Given the description of an element on the screen output the (x, y) to click on. 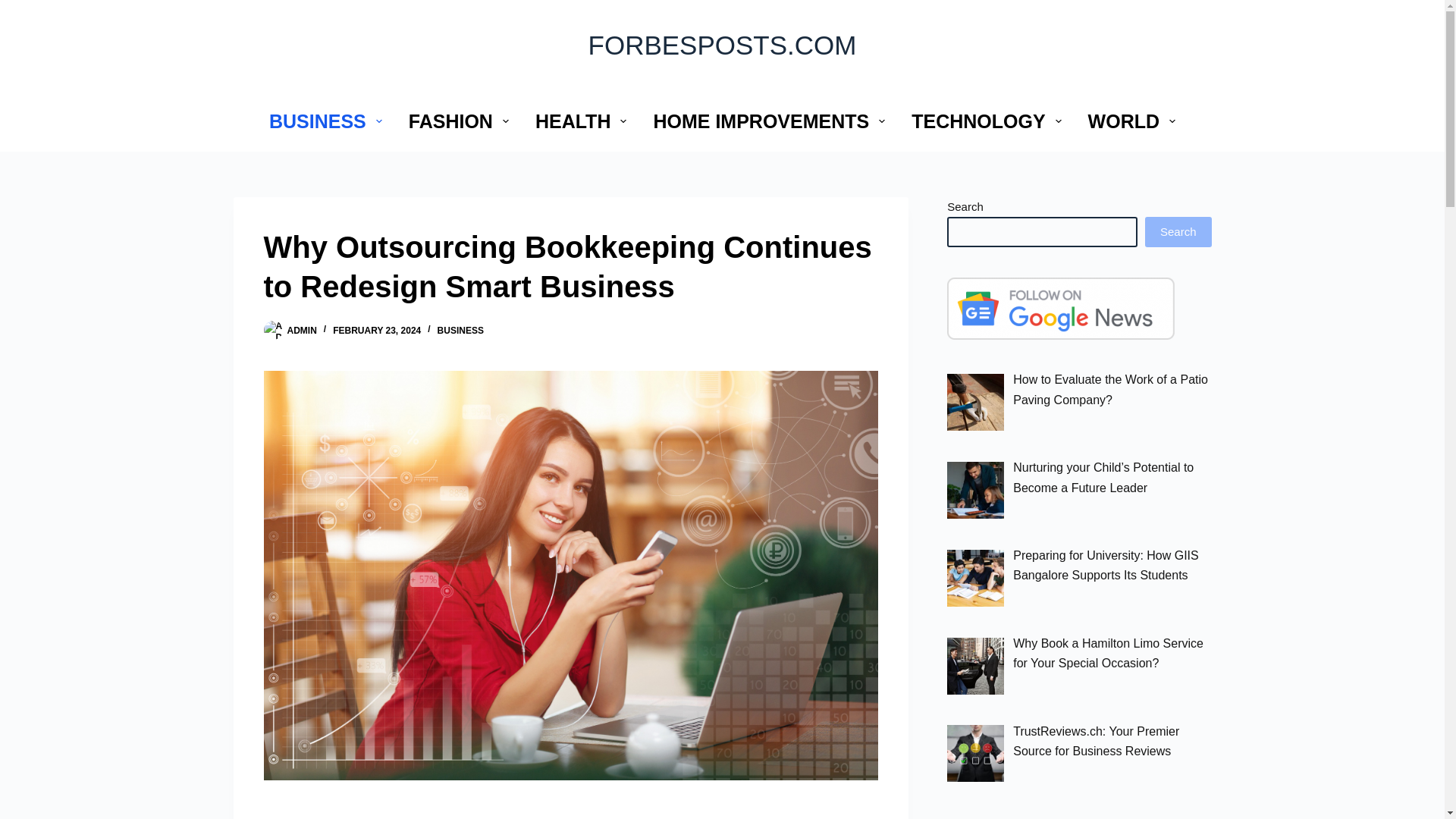
FORBESPOSTS.COM (722, 44)
Nurturing your Child's Potential to Become a Future Leader 5 (975, 489)
Skip to content (15, 7)
Posts by admin (300, 330)
How to Evaluate the Work of a Patio Paving Company? 4 (975, 401)
BUSINESS (325, 120)
